Given the description of an element on the screen output the (x, y) to click on. 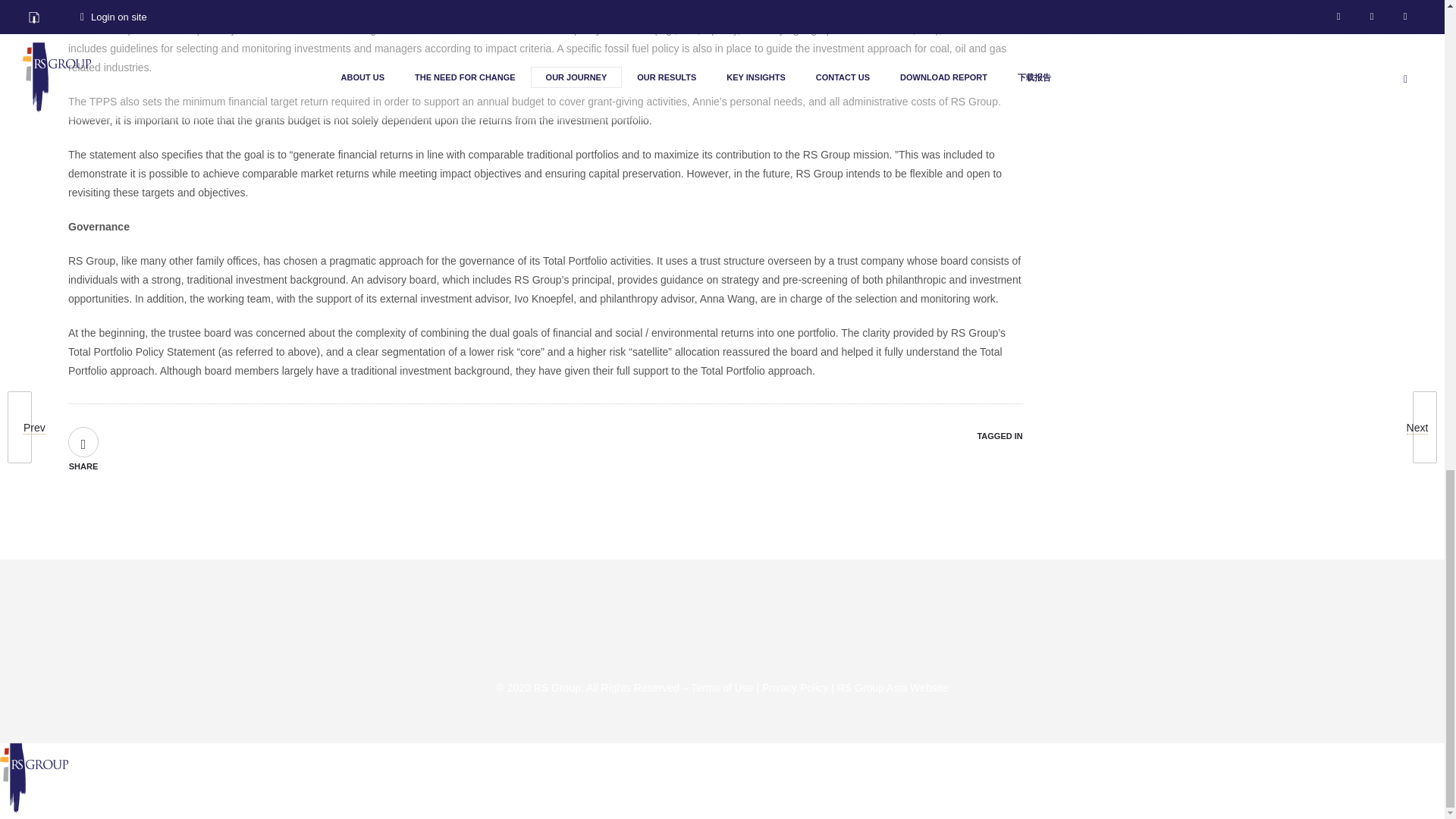
LinkedIN (722, 631)
Facebook (682, 631)
Twitter (759, 631)
